Given the description of an element on the screen output the (x, y) to click on. 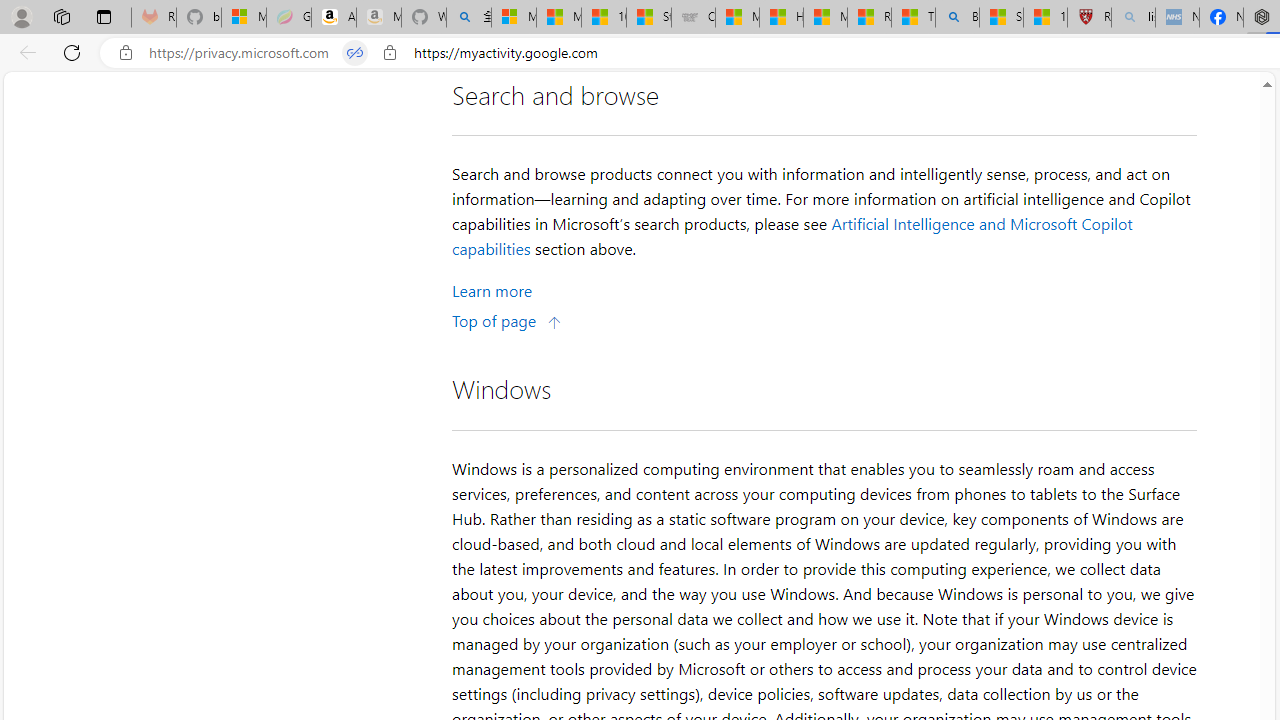
Bing (957, 17)
Learn More about Search and browse (491, 290)
